Given the description of an element on the screen output the (x, y) to click on. 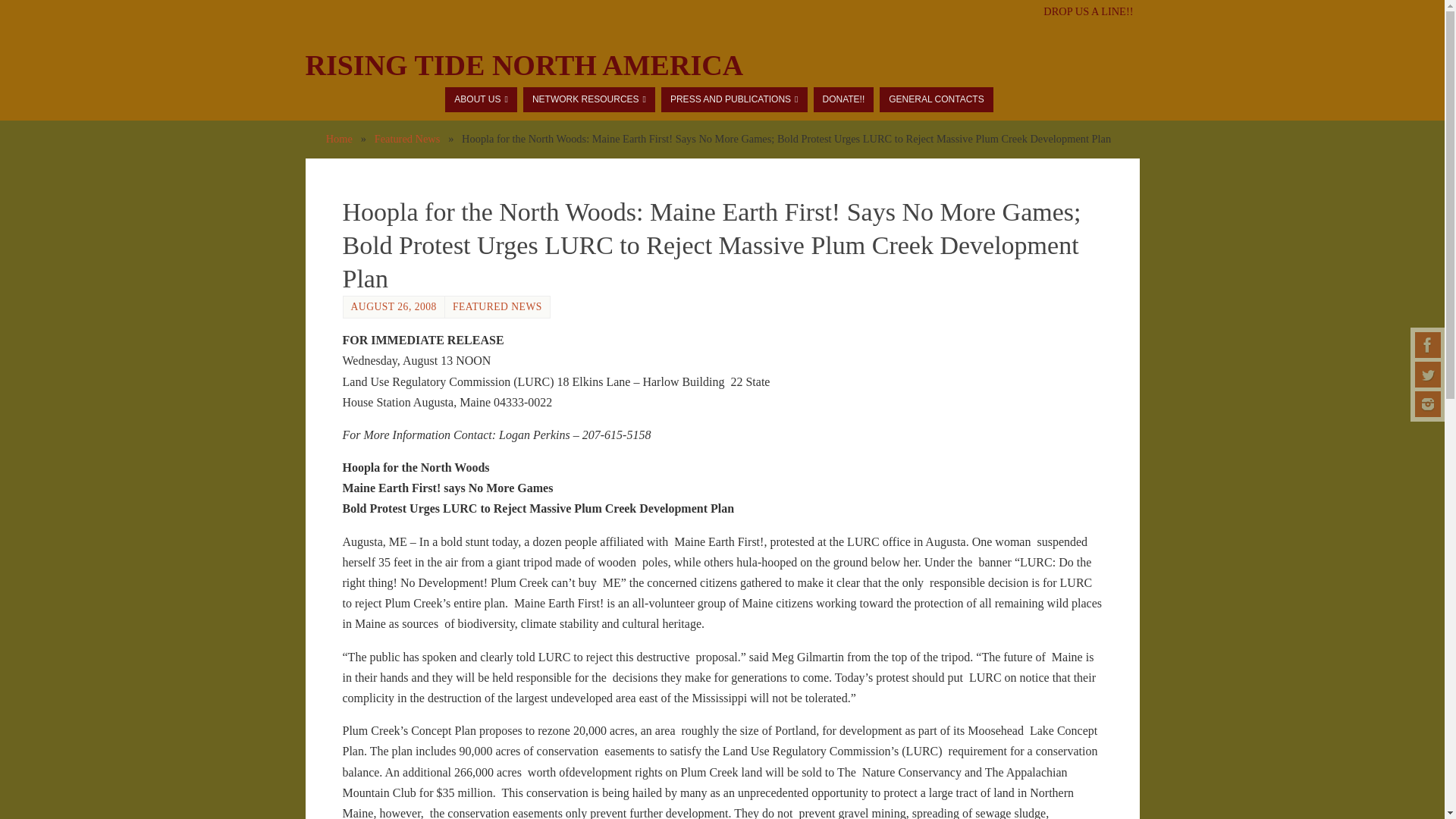
Twitter (1428, 374)
Facebook (1428, 344)
Rising Tide North America (523, 64)
FEATURED NEWS (496, 306)
Home (339, 138)
GENERAL CONTACTS (935, 98)
AUGUST 26, 2008 (392, 306)
ABOUT US (480, 98)
RISING TIDE NORTH AMERICA (523, 64)
Featured News (407, 138)
Instagram (1428, 403)
PRESS AND PUBLICATIONS (734, 98)
NETWORK RESOURCES (588, 98)
DROP US A LINE!! (1088, 11)
DONATE!! (842, 98)
